Given the description of an element on the screen output the (x, y) to click on. 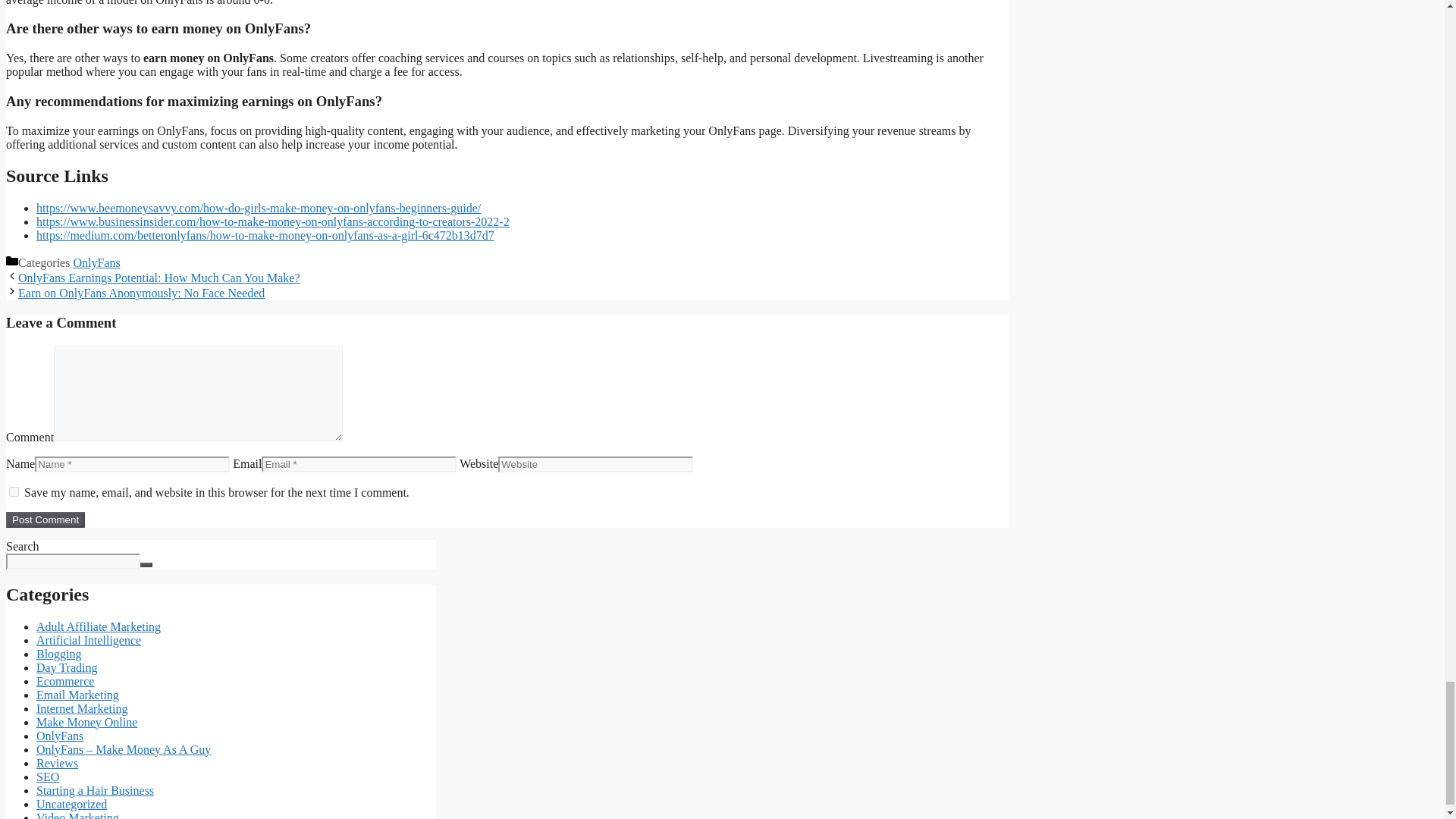
OnlyFans Earnings Potential: How Much Can You Make? (158, 277)
Earn on OnlyFans Anonymously: No Face Needed (140, 292)
OnlyFans (59, 735)
Ecommerce (65, 680)
Blogging (58, 653)
Internet Marketing (82, 707)
Post Comment (44, 519)
OnlyFans (95, 262)
Artificial Intelligence (88, 640)
yes (13, 491)
Make Money Online (86, 721)
Adult Affiliate Marketing (98, 626)
Reviews (57, 762)
Post Comment (44, 519)
Email Marketing (77, 694)
